Given the description of an element on the screen output the (x, y) to click on. 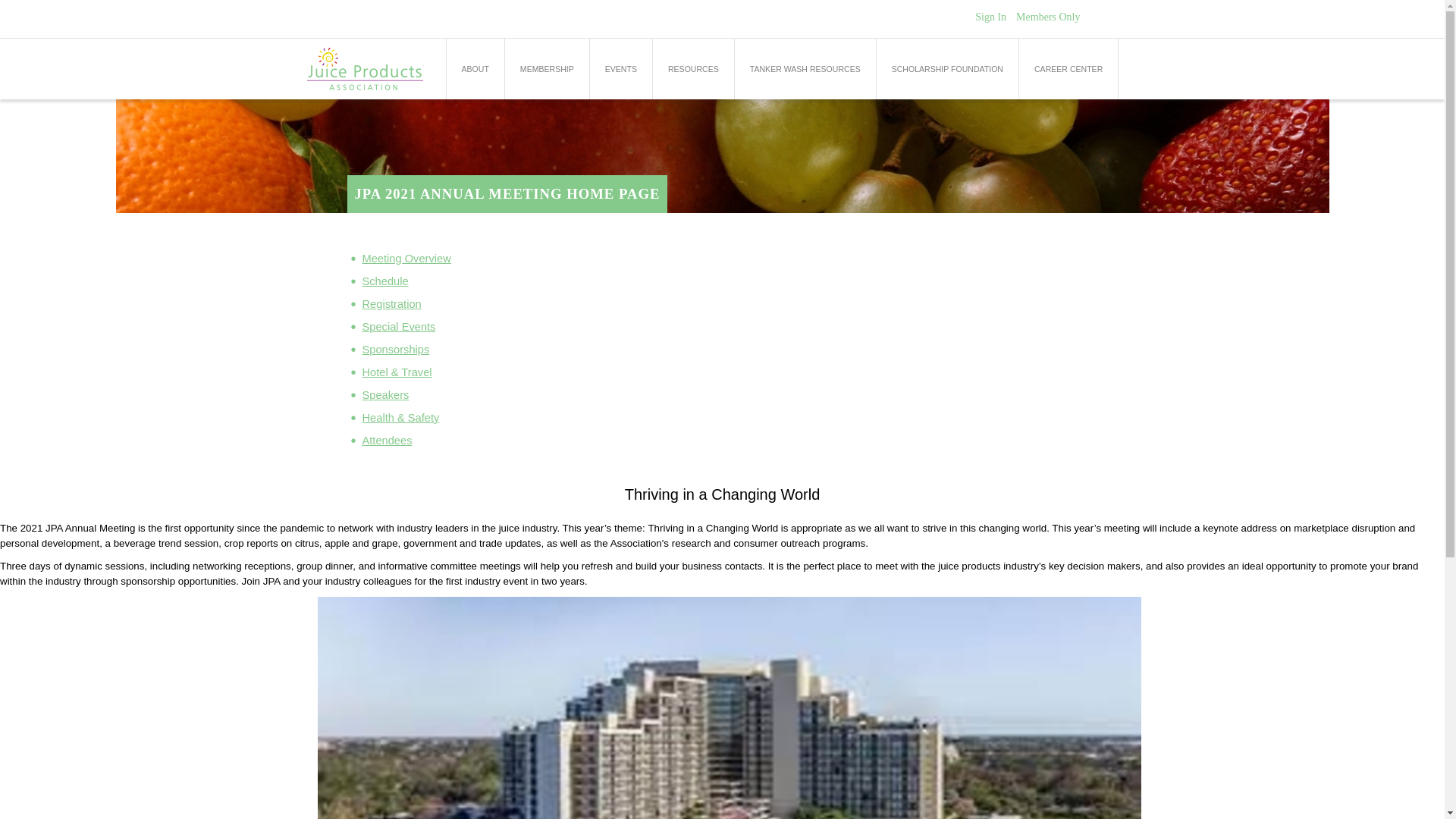
Sponsorships (395, 354)
Members Only (1048, 16)
Attendees (387, 445)
Schedule (385, 286)
EVENTS (620, 68)
Speakers (385, 400)
Meeting Overview (406, 264)
TANKER WASH RESOURCES (805, 68)
SCHOLARSHIP FOUNDATION (946, 68)
MEMBERSHIP (547, 68)
Special Events (398, 332)
ABOUT (474, 68)
CAREER CENTER (1068, 68)
Registration (392, 309)
RESOURCES (692, 68)
